Given the description of an element on the screen output the (x, y) to click on. 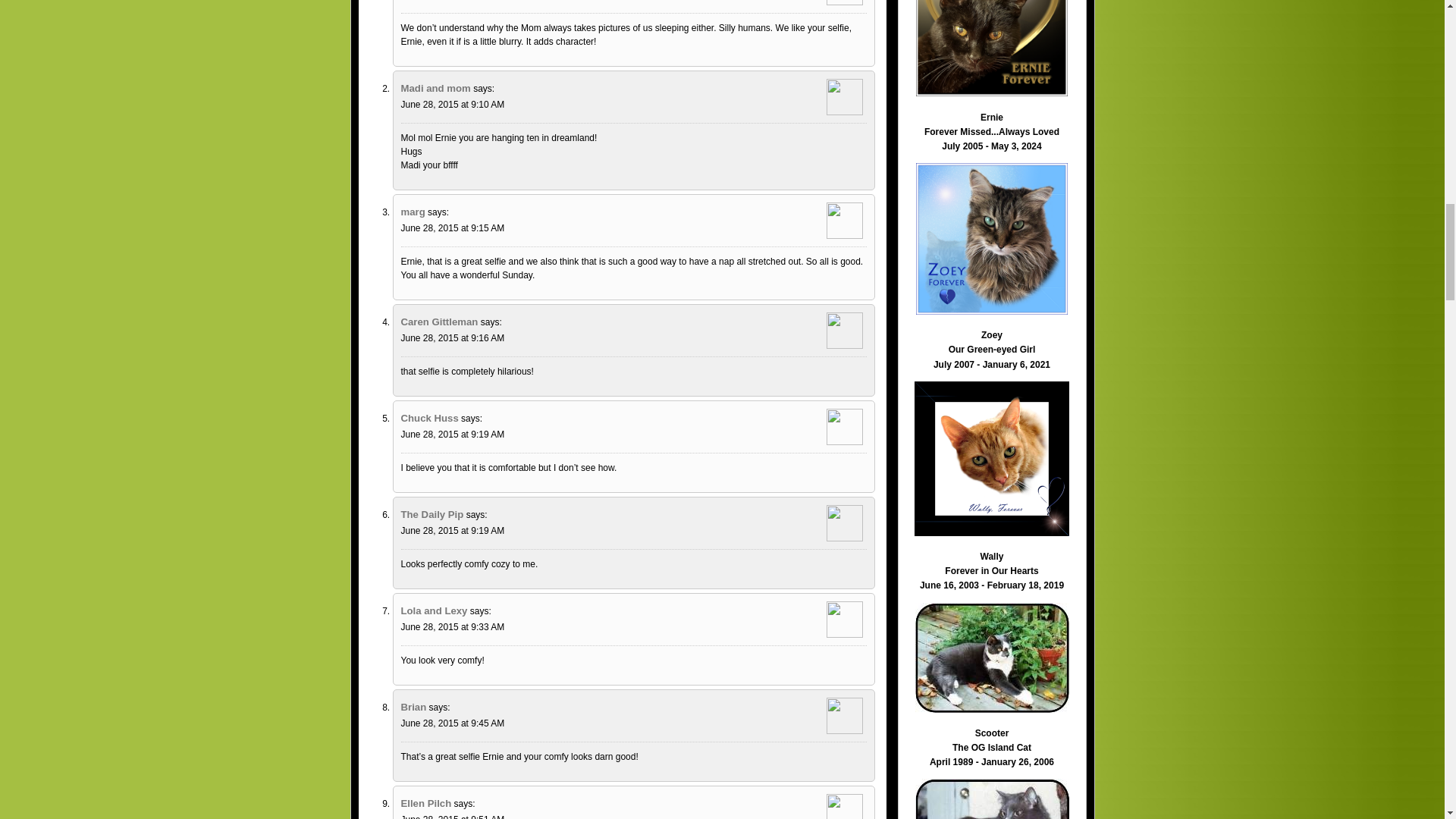
June 28, 2015 at 9:10 AM (451, 104)
Chuck Huss (429, 418)
Ellen Pilch (425, 803)
Brian (413, 706)
marg (412, 211)
June 28, 2015 at 9:15 AM (451, 227)
June 28, 2015 at 9:19 AM (451, 530)
Madi and mom (435, 88)
June 28, 2015 at 9:33 AM (451, 626)
June 28, 2015 at 9:51 AM (451, 816)
June 28, 2015 at 9:19 AM (451, 434)
The Daily Pip (431, 514)
Caren Gittleman (438, 321)
June 28, 2015 at 9:45 AM (451, 723)
Lola and Lexy (433, 610)
